Given the description of an element on the screen output the (x, y) to click on. 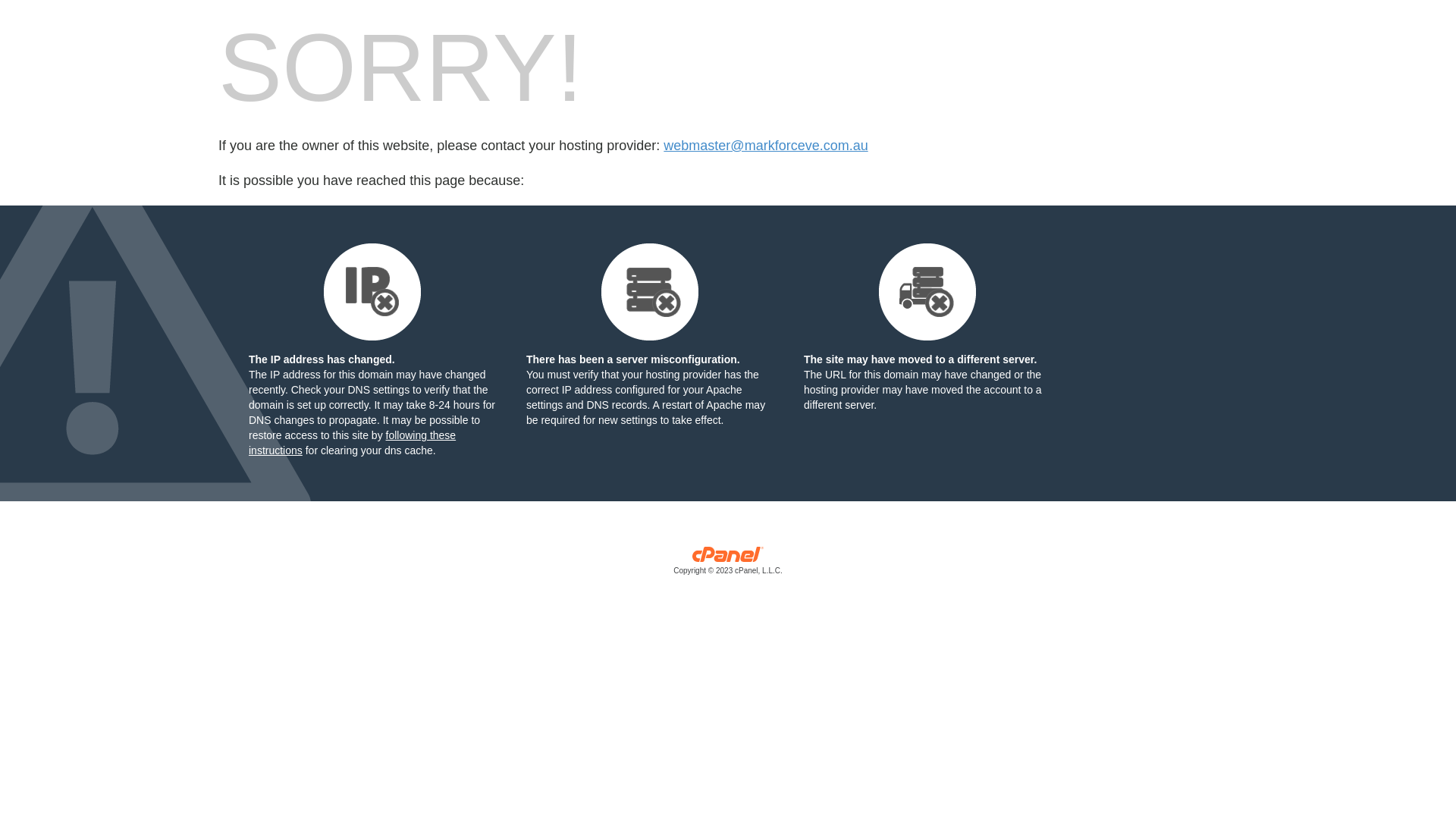
following these instructions Element type: text (351, 442)
webmaster@markforceve.com.au Element type: text (765, 145)
